Given the description of an element on the screen output the (x, y) to click on. 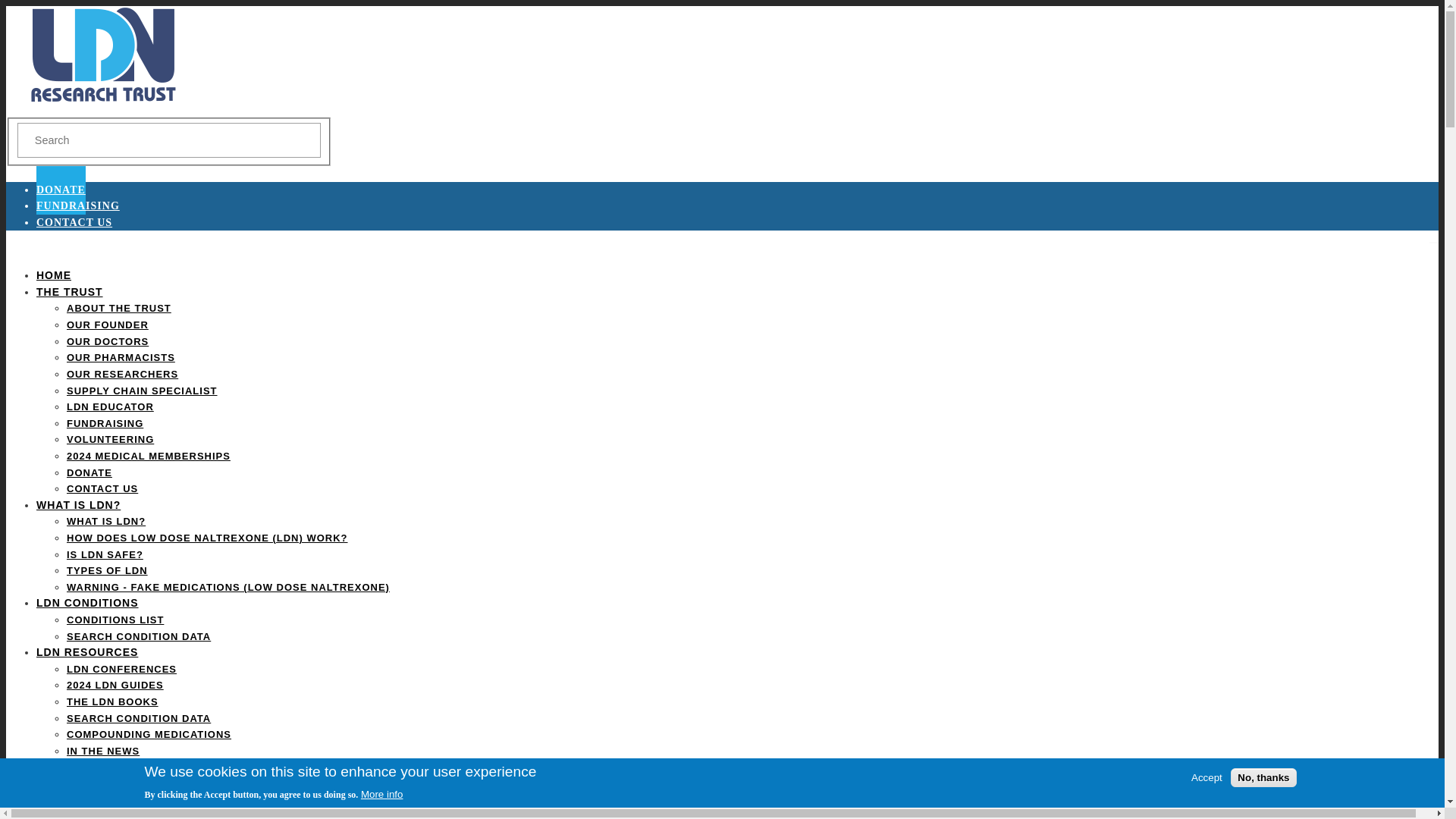
OUR PHARMACISTS (120, 357)
IN THE NEWS (102, 750)
WHAT IS LDN? (105, 521)
FUNDRAISING (104, 423)
Our Researchers (121, 374)
SUPPLY CHAIN SPECIALIST (141, 390)
FUNDRAISING (77, 205)
Our Doctors (107, 341)
Our Pharmacists (120, 357)
How Naltrexone works (206, 537)
DONATE (89, 472)
THE LDN BLOG (107, 767)
SEARCH CONDITION DATA (138, 717)
CY 2024 Memberships (148, 455)
CLINICAL TRIALS ABSTRACTS (149, 799)
